Given the description of an element on the screen output the (x, y) to click on. 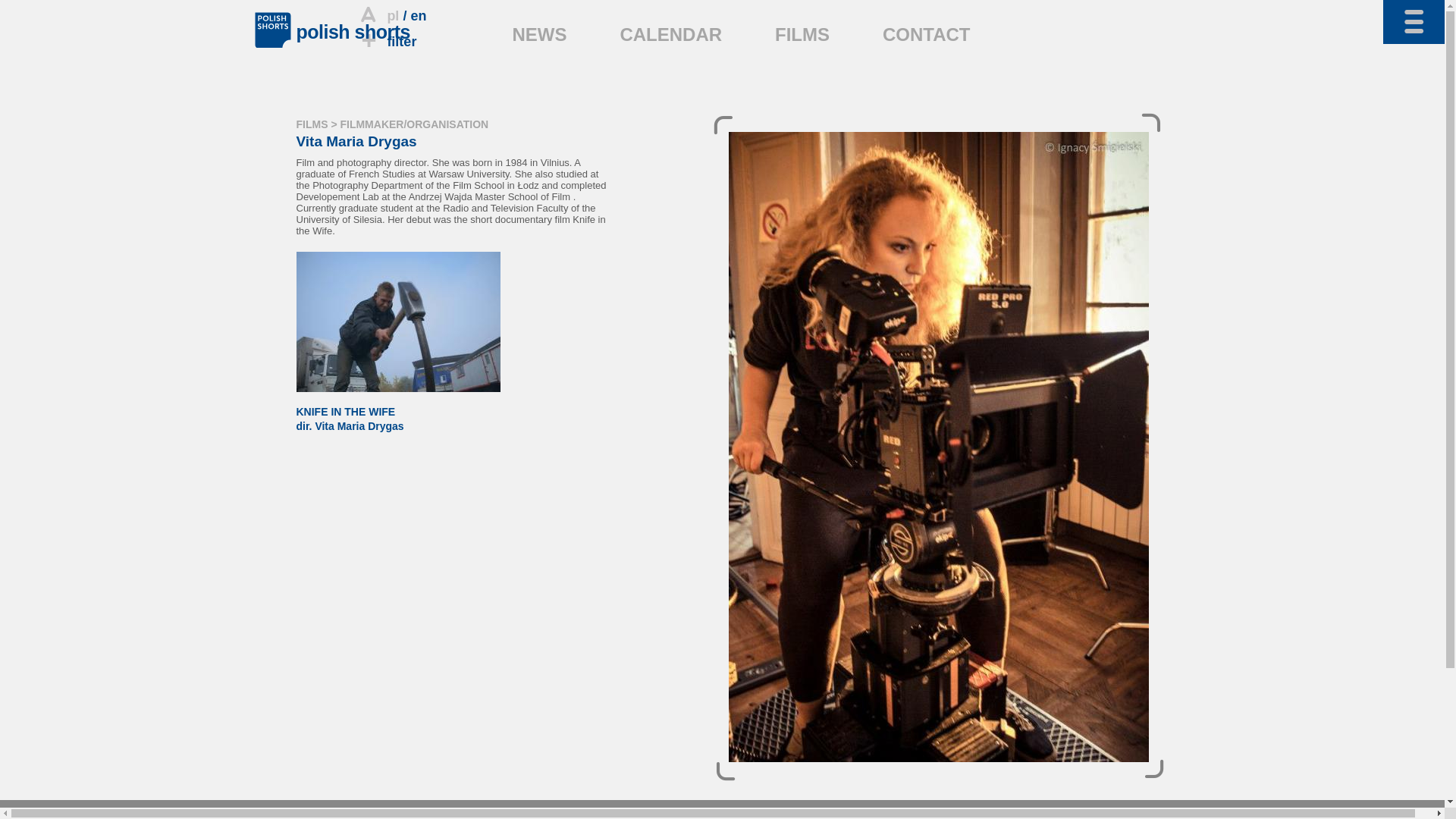
FILMS (311, 123)
FILMS (801, 34)
polish shorts (352, 31)
CALENDAR (397, 411)
filter (671, 34)
english version (386, 41)
en (418, 15)
NEWS (418, 15)
CONTACT (539, 34)
